Given the description of an element on the screen output the (x, y) to click on. 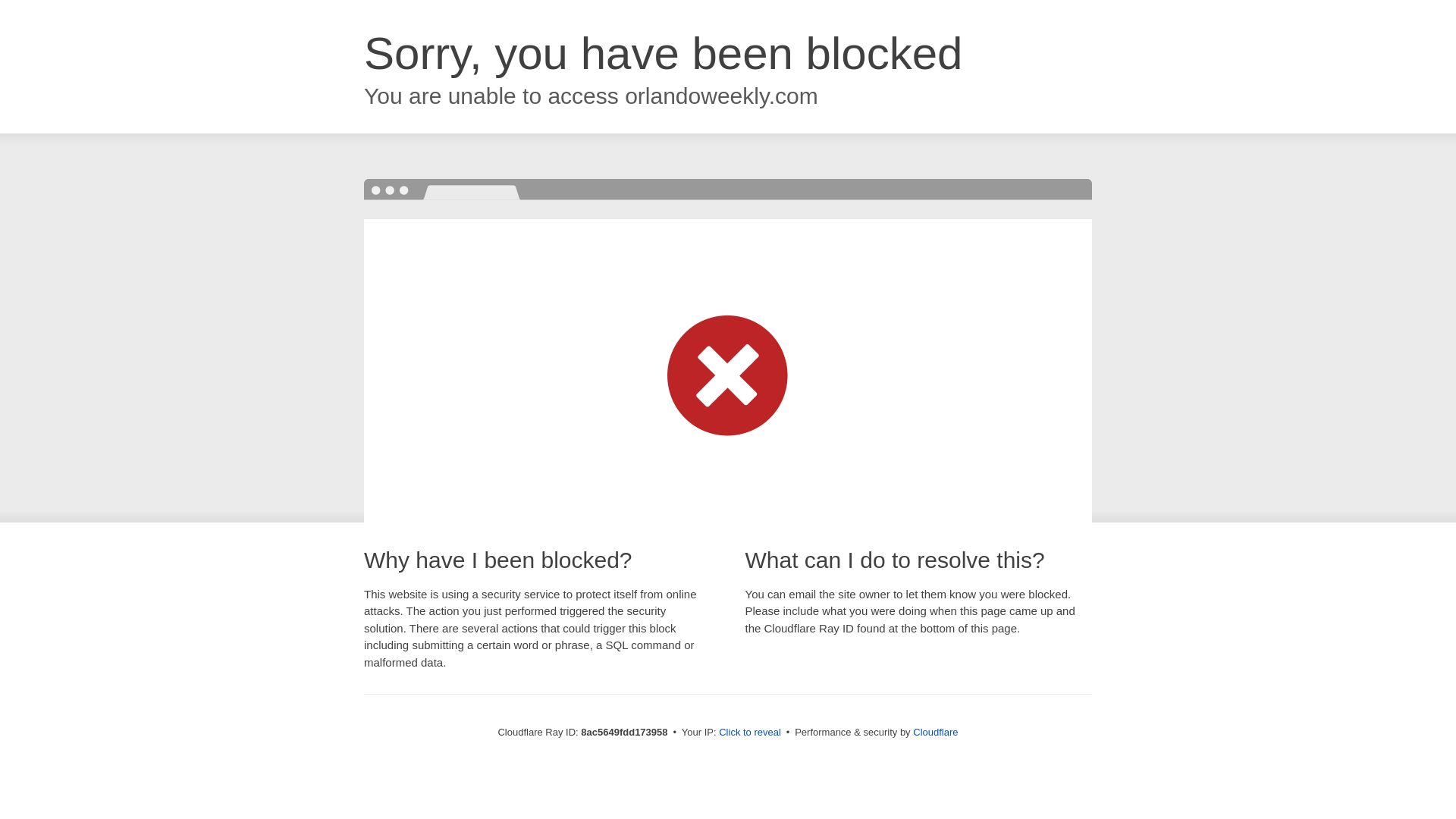
Cloudflare (935, 731)
Click to reveal (749, 732)
